Given the description of an element on the screen output the (x, y) to click on. 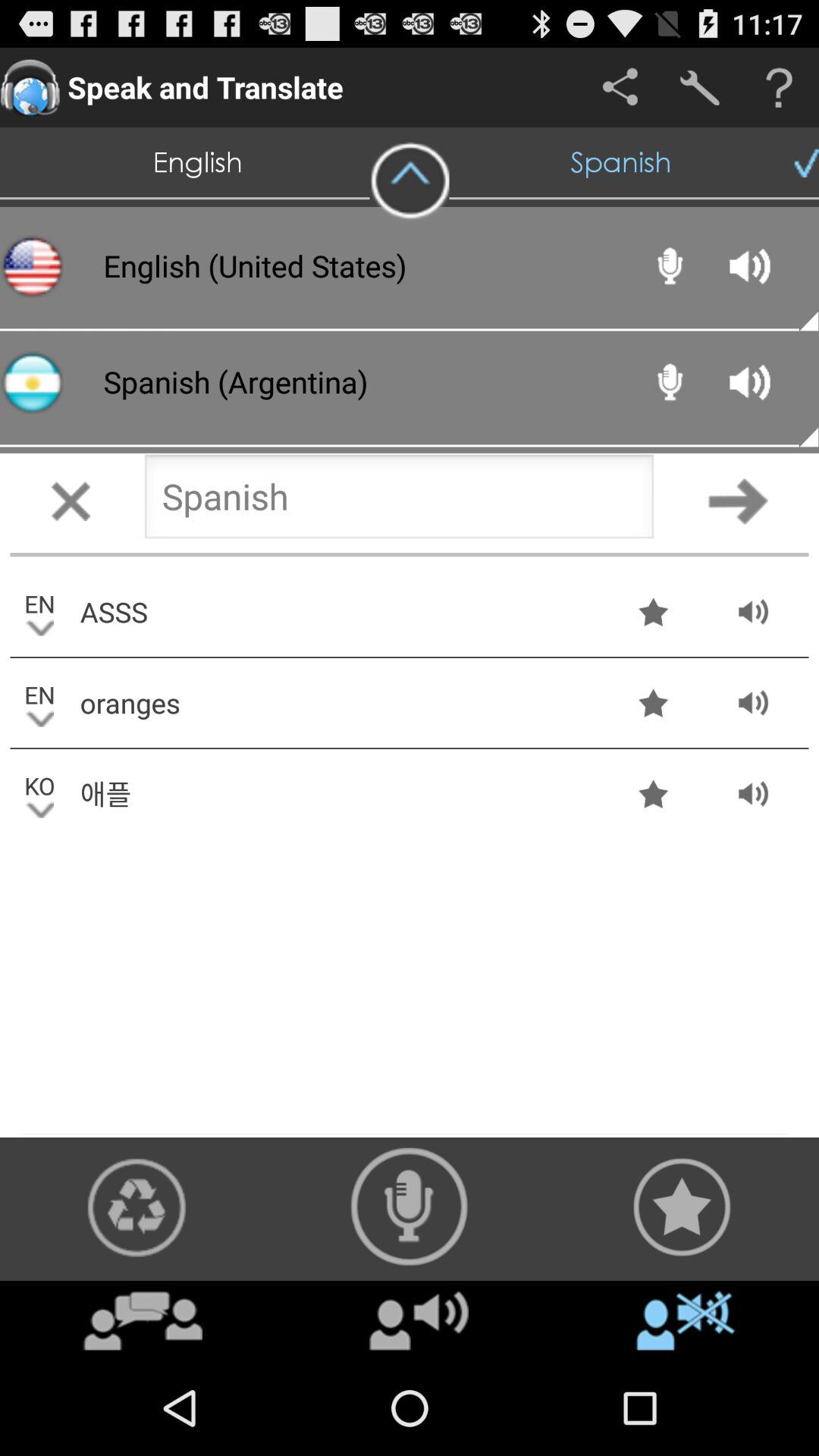
go to favorite mark (682, 1206)
